Given the description of an element on the screen output the (x, y) to click on. 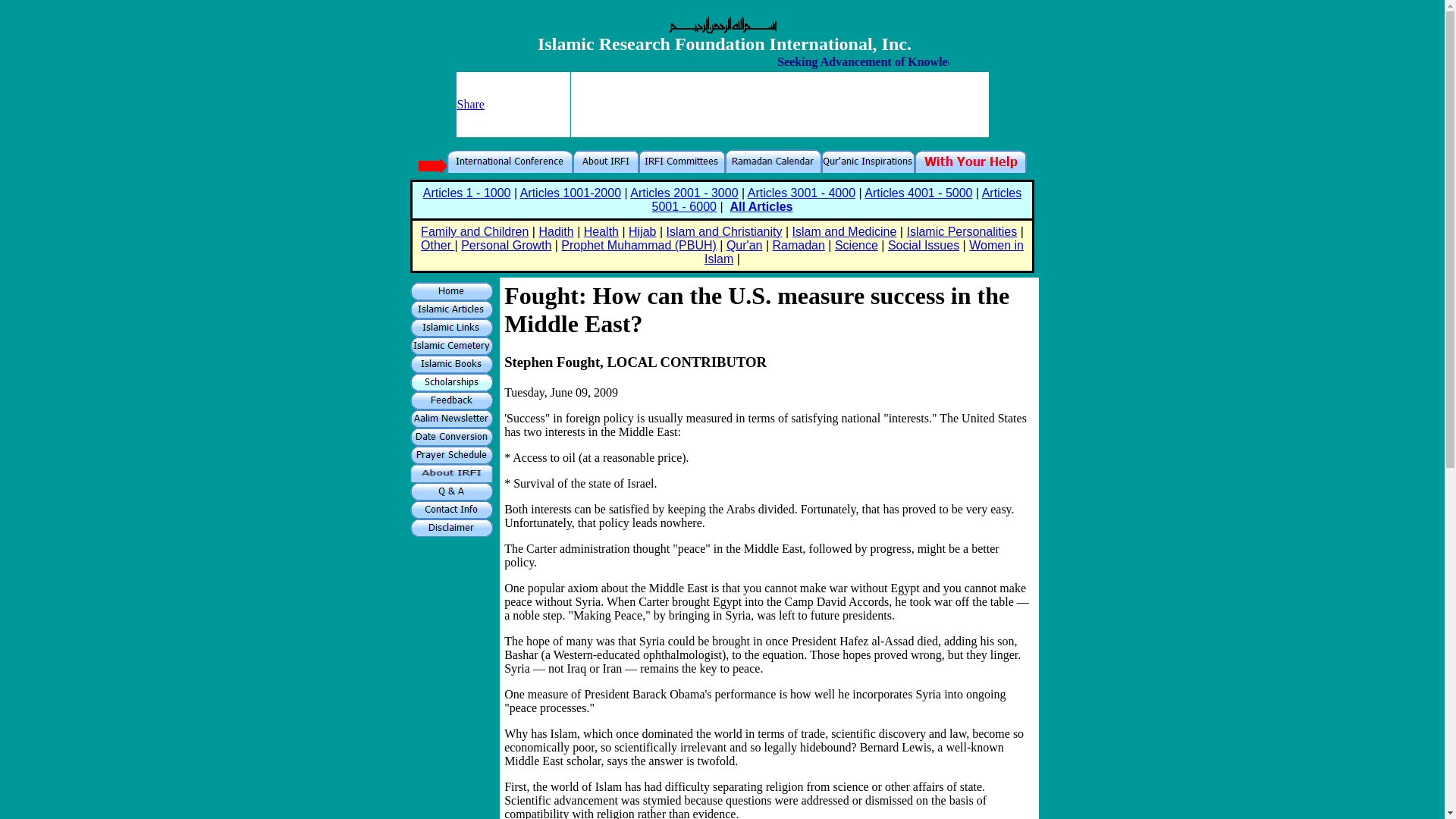
Social Issues (923, 245)
Women in Islam (863, 252)
Articles 4001 - 5000 (918, 192)
Articles 1001-2000 (570, 192)
Islam and Christianity (724, 231)
Articles 2001 - 3000 (684, 192)
Articles 1 - 1000 (467, 192)
Ramadan (797, 245)
Qur'an (744, 245)
Islam and Medicine (844, 231)
